Given the description of an element on the screen output the (x, y) to click on. 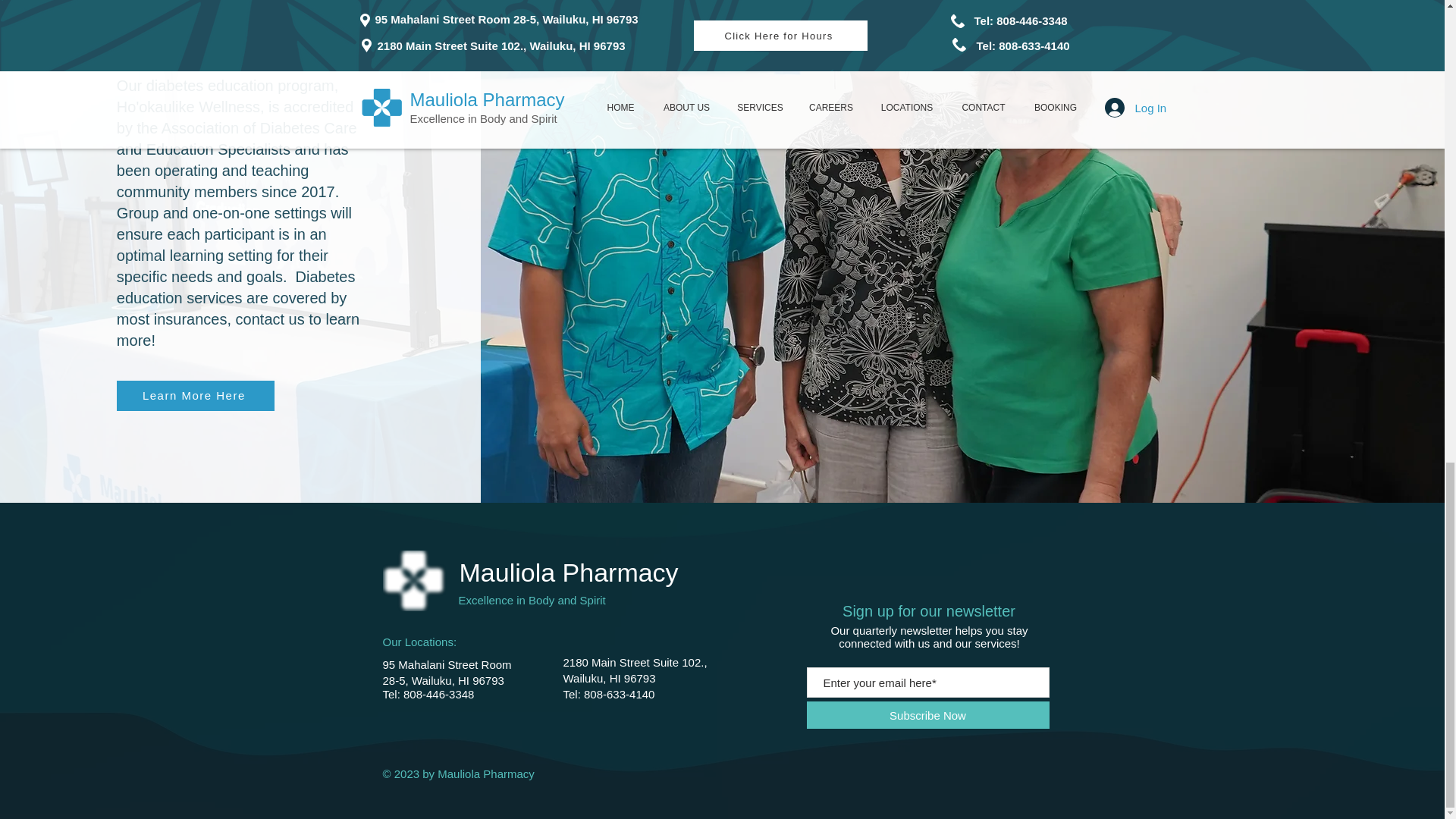
Mauliola Pharmacy (569, 572)
Subscribe Now (927, 714)
Room 28-5 (446, 672)
Learn More Here (195, 395)
95 Mahalani Street (430, 664)
